Given the description of an element on the screen output the (x, y) to click on. 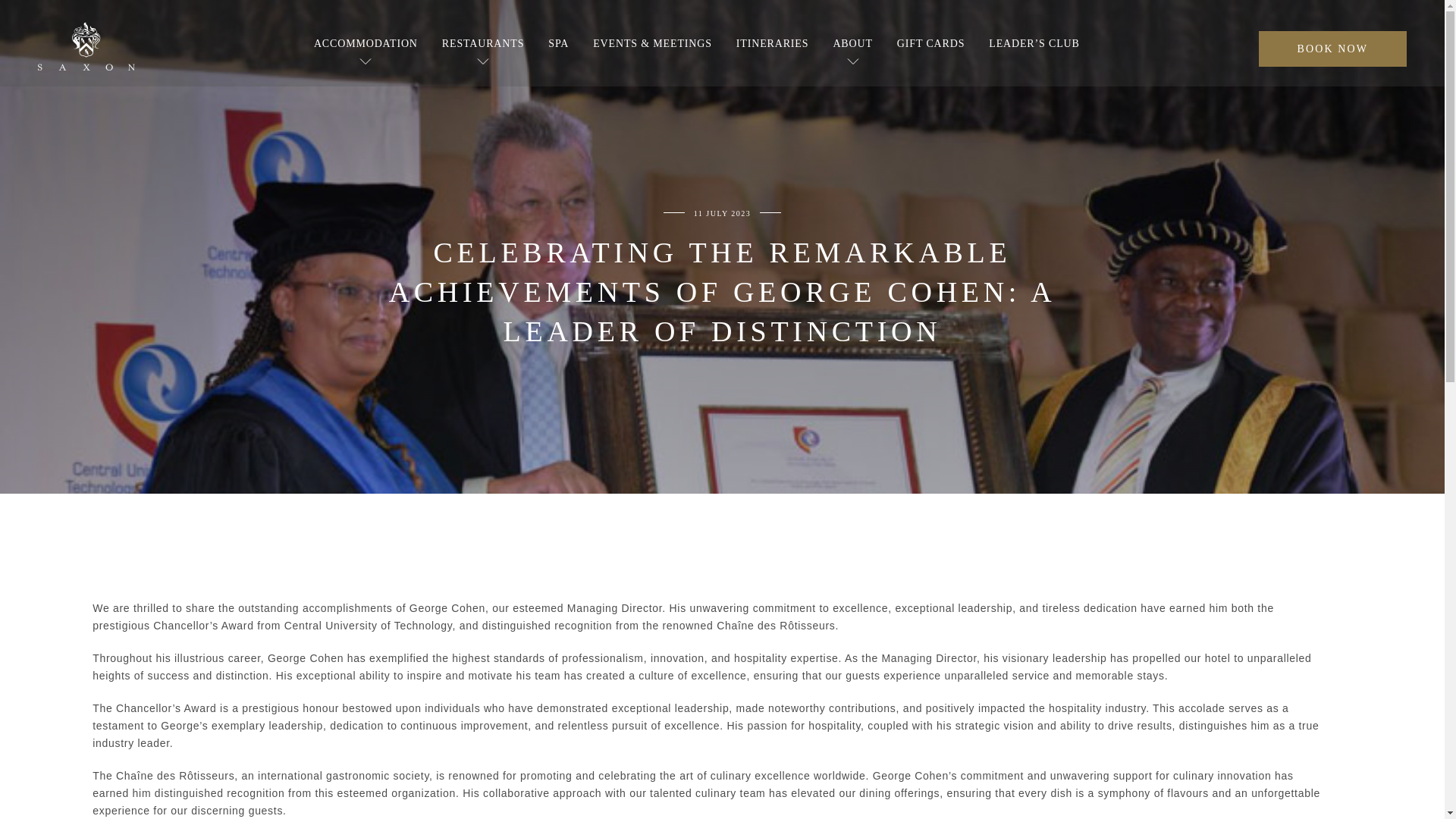
ITINERARIES (772, 43)
ACCOMMODATION (365, 43)
BOOK NOW (1332, 48)
ABOUT (852, 43)
RESTAURANTS (483, 43)
GIFT CARDS (929, 43)
SPA (558, 43)
